Given the description of an element on the screen output the (x, y) to click on. 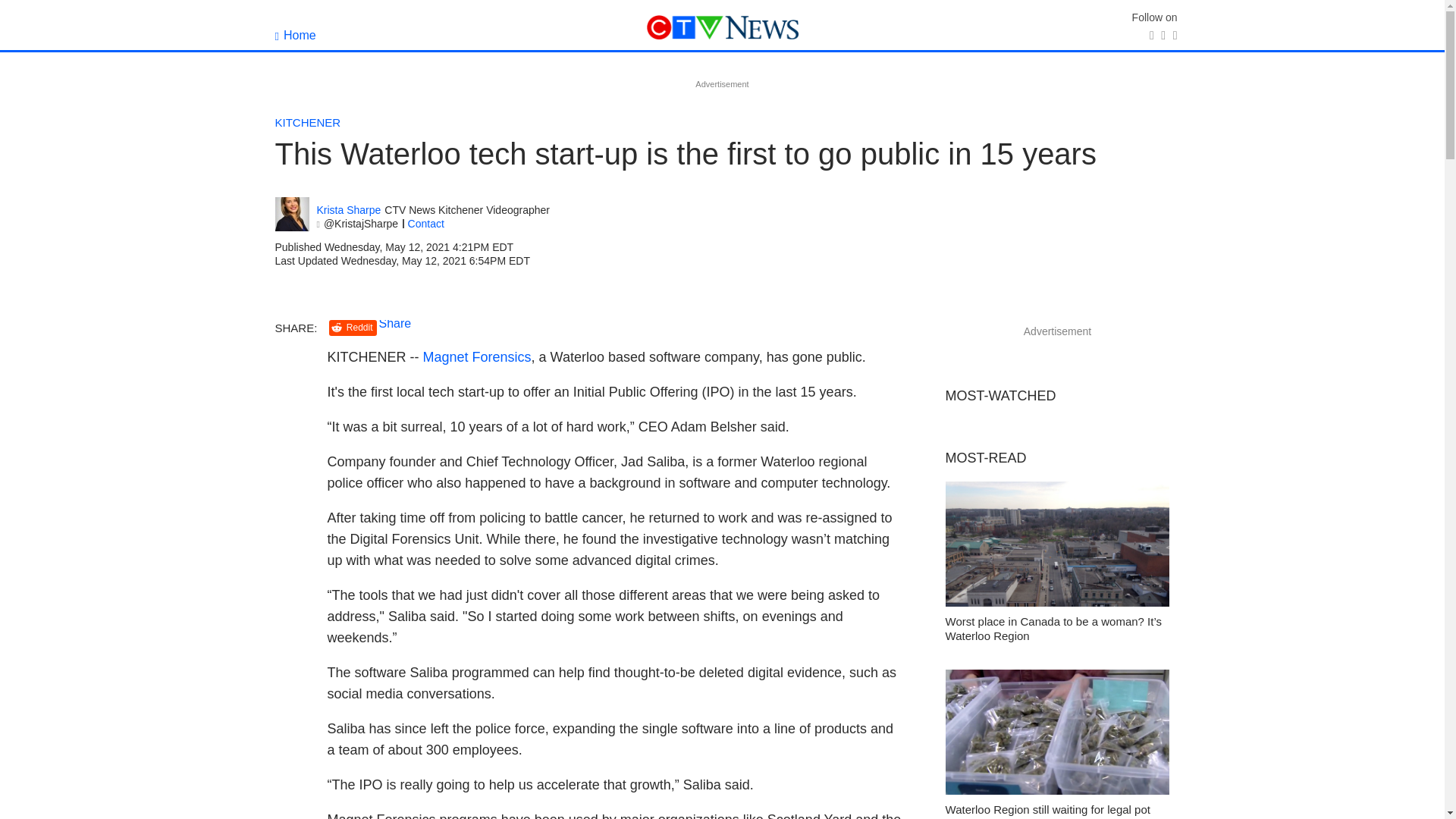
Krista Sharpe (349, 210)
Contact (425, 223)
KITCHENER (307, 122)
Reddit (353, 327)
Share (395, 323)
Magnet Forensics (477, 356)
Home (295, 34)
